Given the description of an element on the screen output the (x, y) to click on. 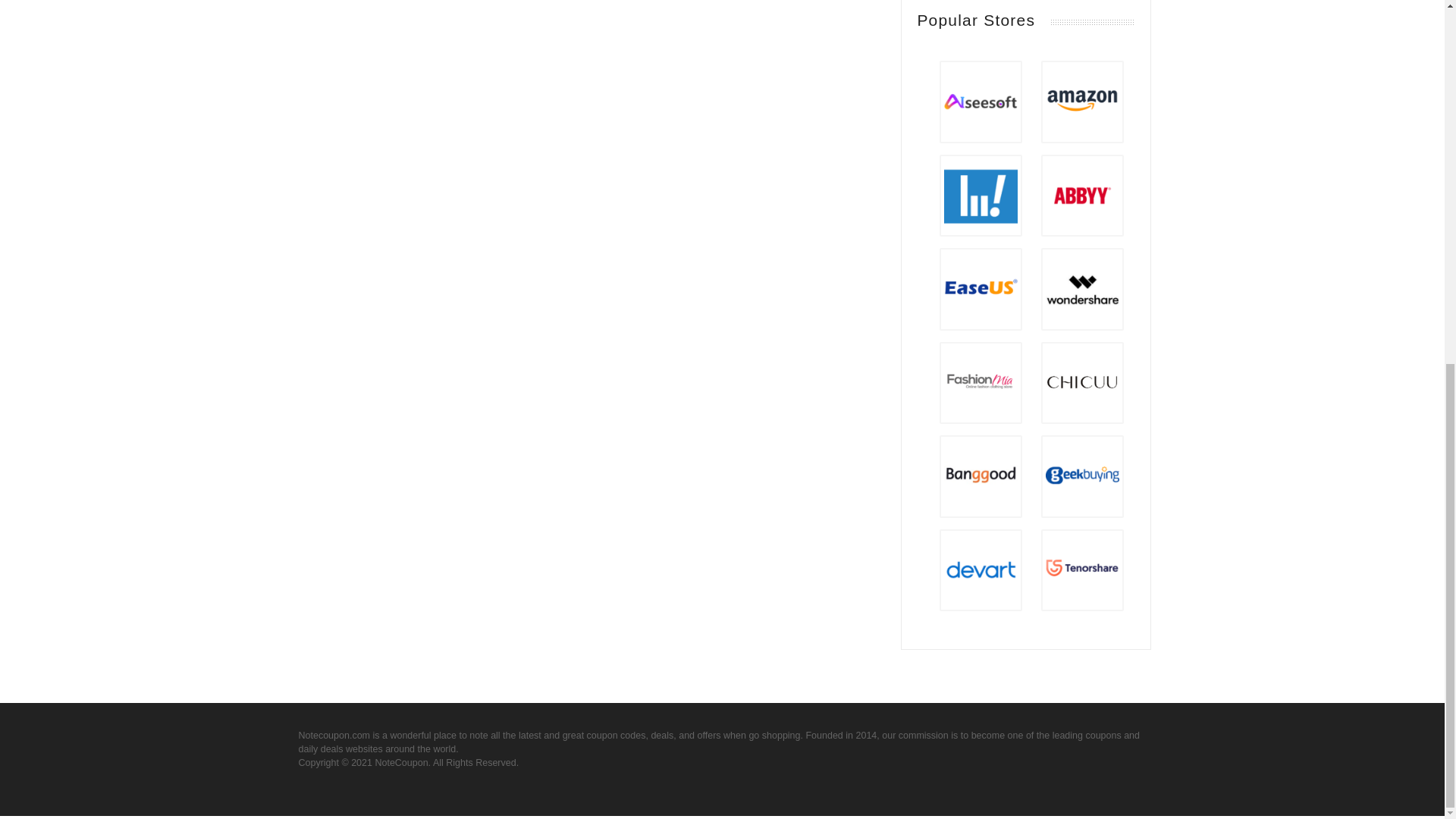
easeus coupon code (980, 288)
amazon coupon code (1082, 101)
geekbuying coupon code (1082, 476)
wondershare coupon code (1082, 288)
4k download coupon code (980, 195)
aiseesoft coupon code (980, 101)
Fashionmia-coupons (980, 383)
abbyy coupon code (1082, 195)
banggood coupon code (980, 476)
chicuu-logo (1082, 383)
